Given the description of an element on the screen output the (x, y) to click on. 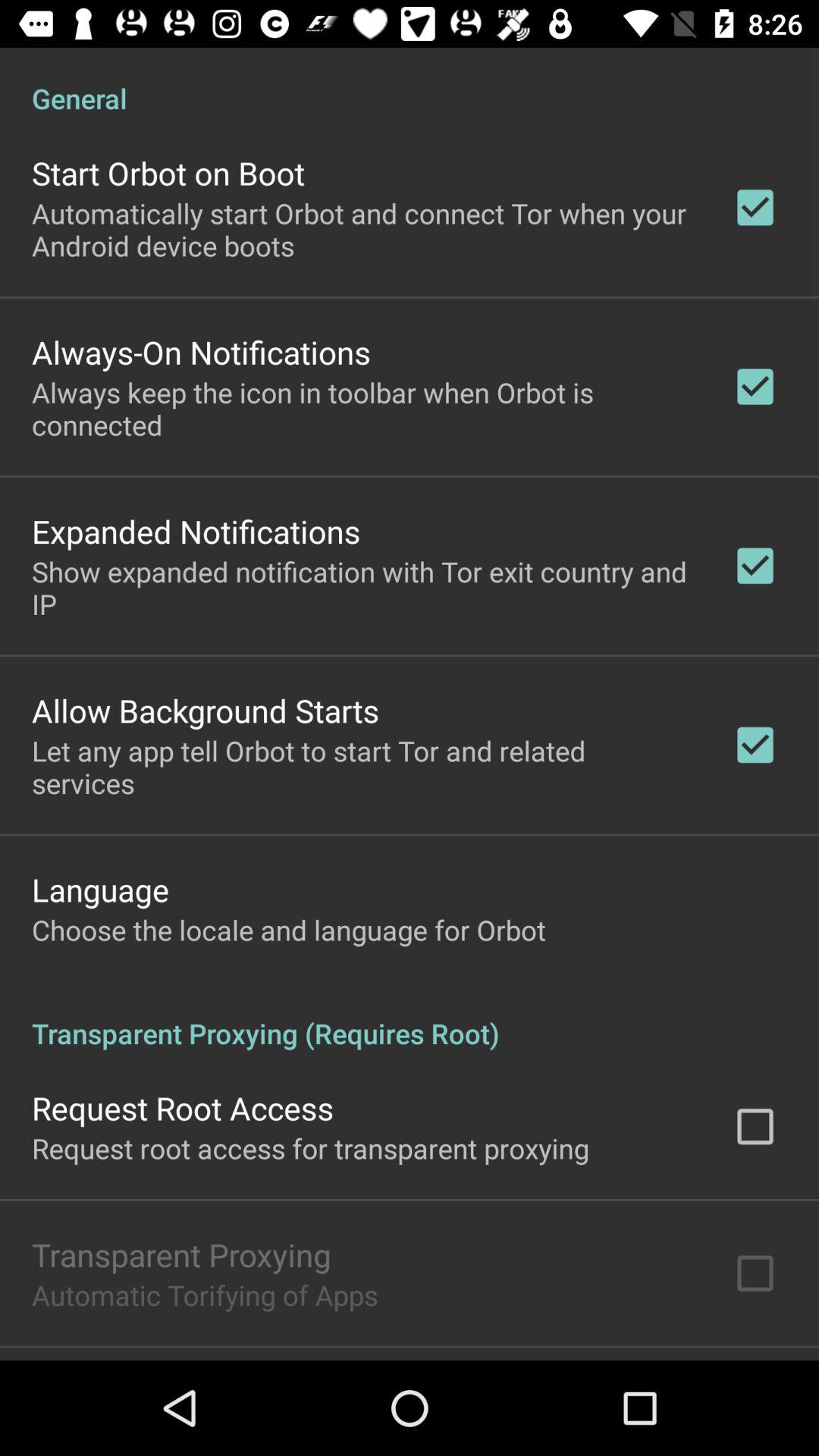
press the item below automatically start orbot icon (200, 351)
